Given the description of an element on the screen output the (x, y) to click on. 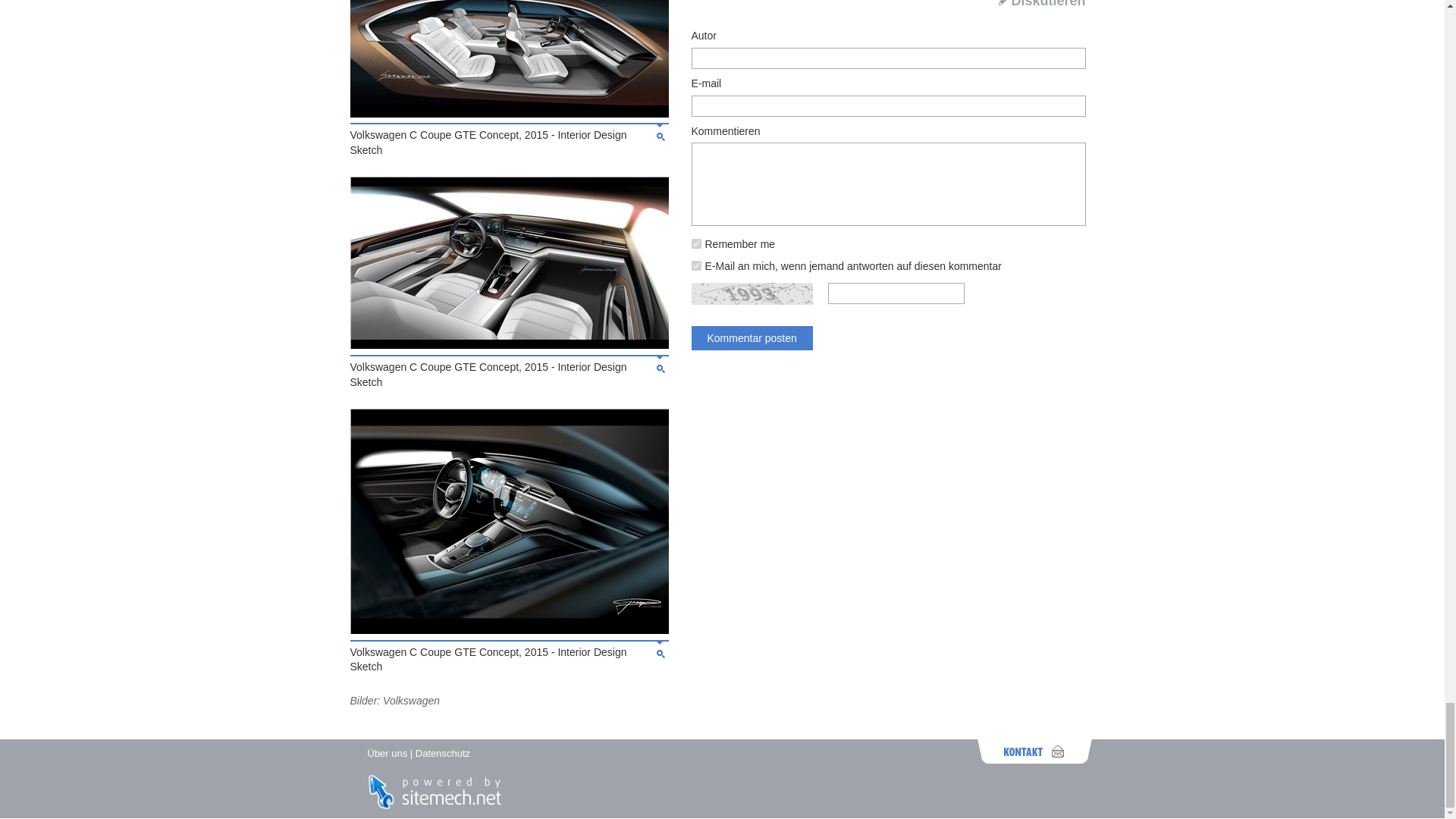
Kommentar posten (751, 337)
on (696, 243)
on (696, 266)
